Given the description of an element on the screen output the (x, y) to click on. 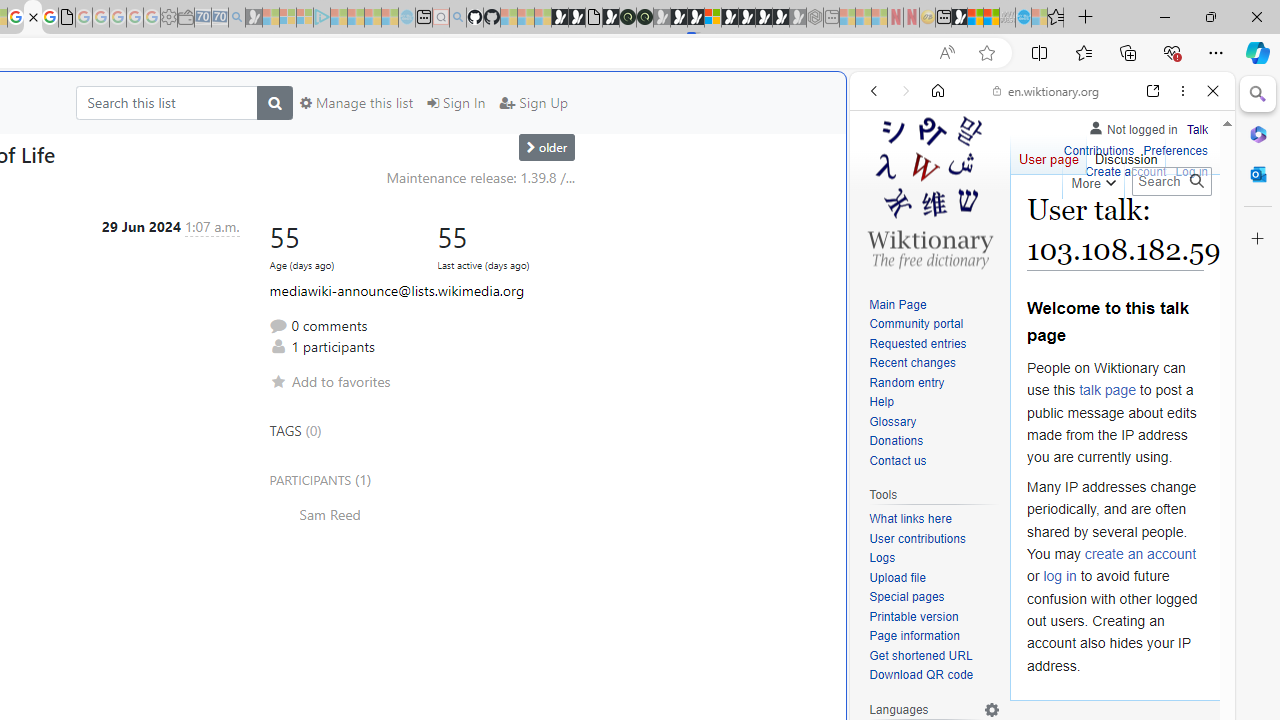
User contributions (917, 538)
User page (1048, 154)
Search Filter, Search Tools (1093, 228)
Search this list (166, 102)
Get shortened URL (934, 655)
Sign in to your account (712, 17)
Log in (1191, 169)
Earth has six continents not seven, radical new study claims (991, 17)
Search Filter, IMAGES (939, 228)
